Given the description of an element on the screen output the (x, y) to click on. 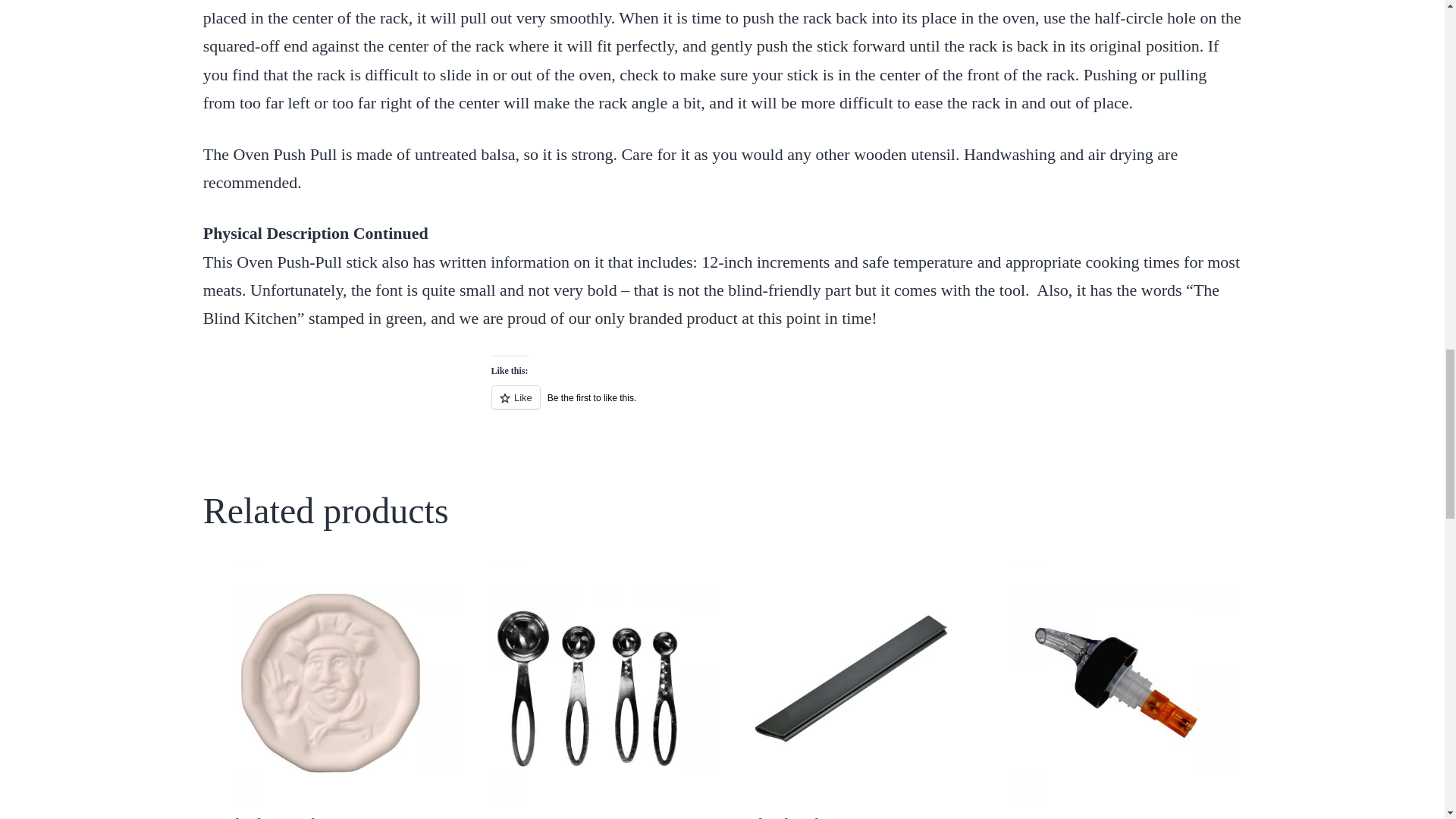
Like or Reblog (722, 405)
